Given the description of an element on the screen output the (x, y) to click on. 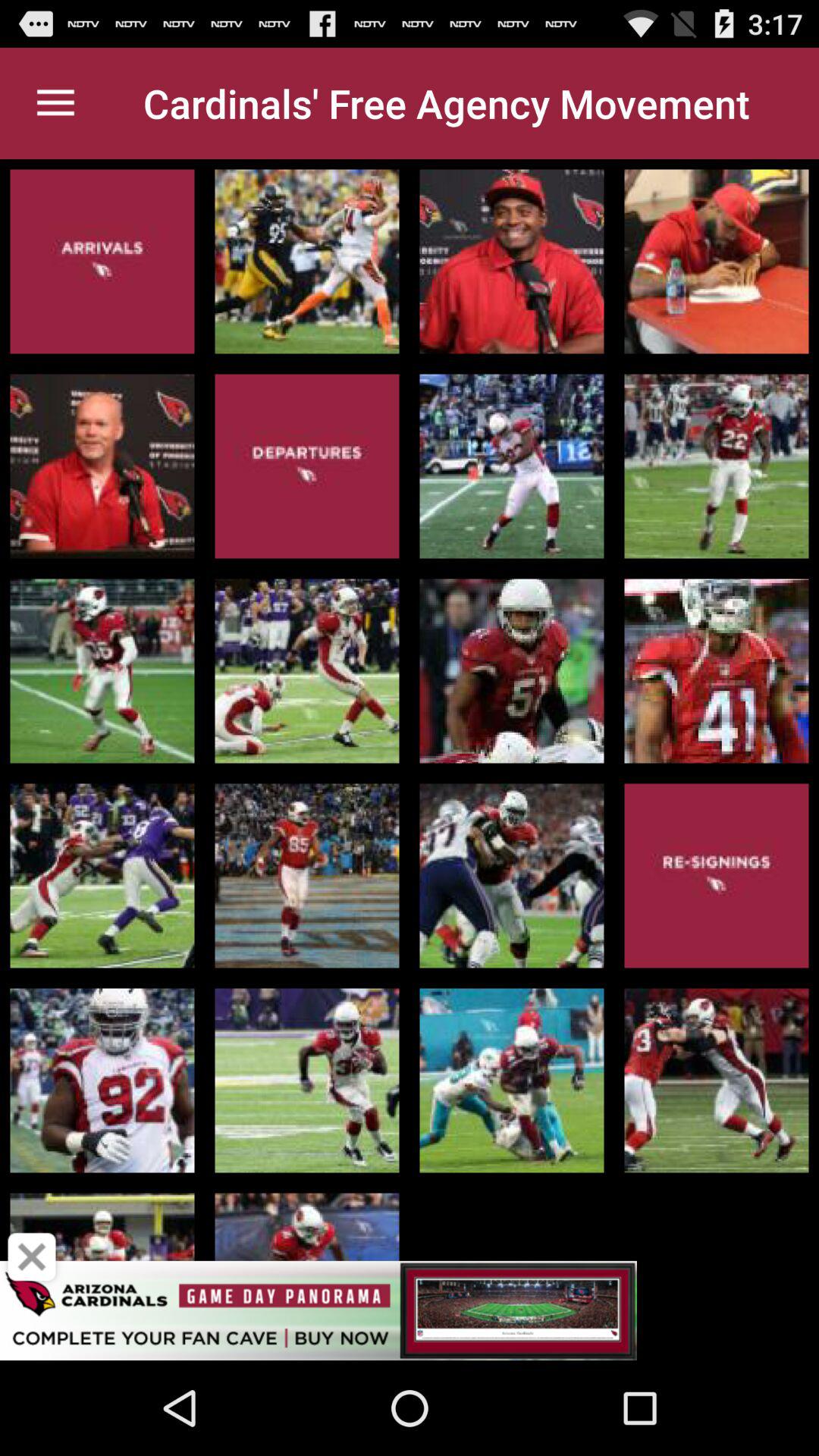
go to advertisement (409, 1310)
